Given the description of an element on the screen output the (x, y) to click on. 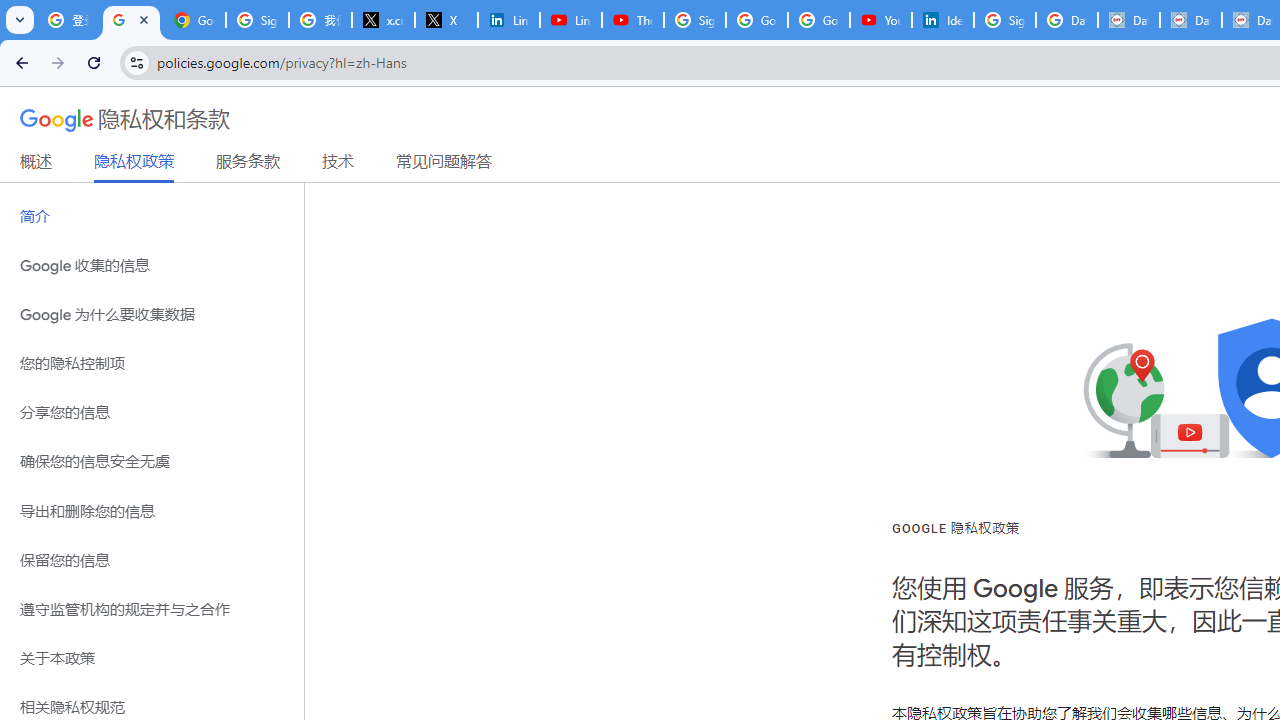
LinkedIn Privacy Policy (508, 20)
